Given the description of an element on the screen output the (x, y) to click on. 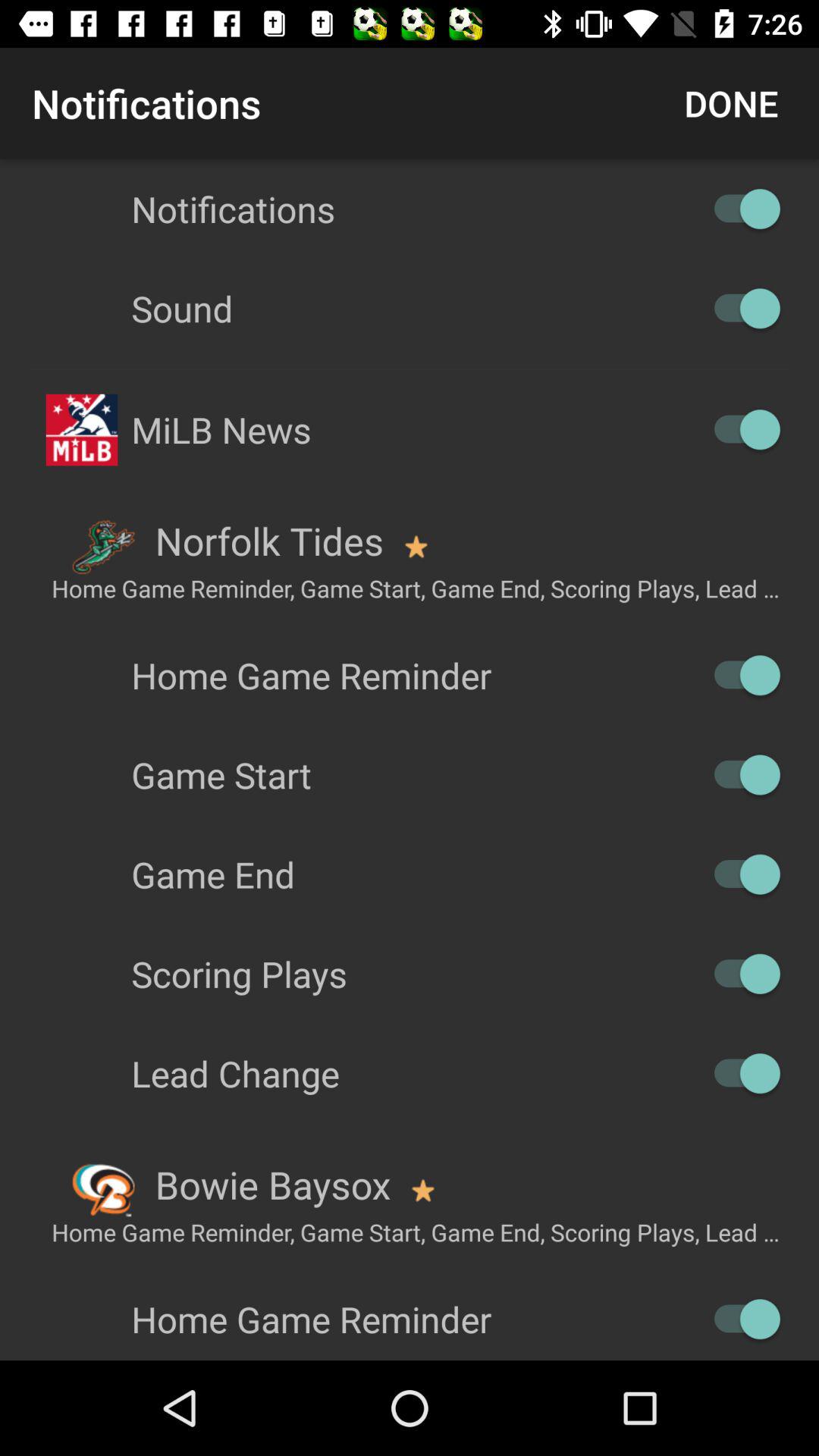
select off on option (739, 209)
